Given the description of an element on the screen output the (x, y) to click on. 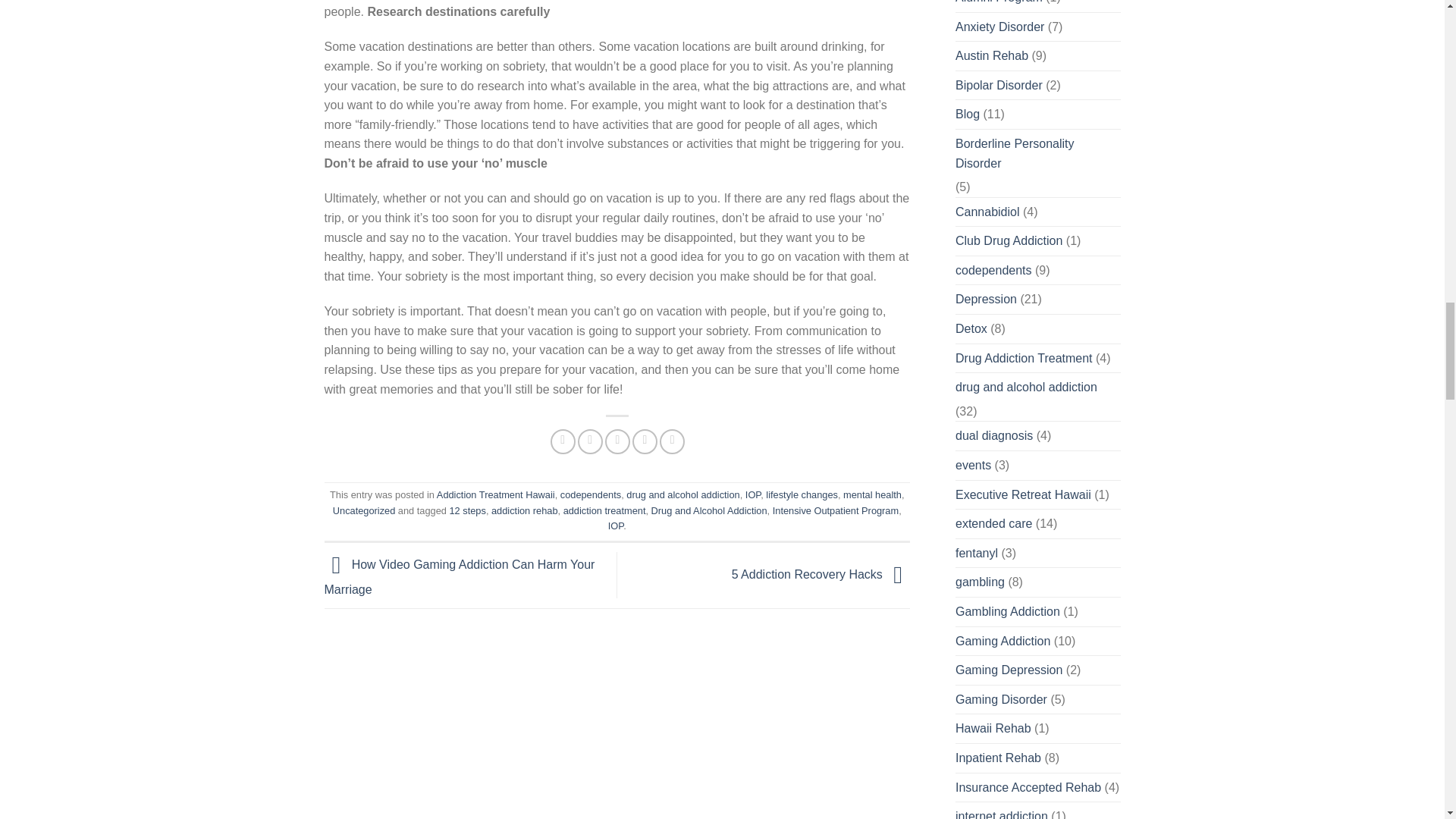
Email to a Friend (617, 441)
Share on Twitter (590, 441)
Pin on Pinterest (644, 441)
Share on LinkedIn (671, 441)
Share on Facebook (562, 441)
